Given the description of an element on the screen output the (x, y) to click on. 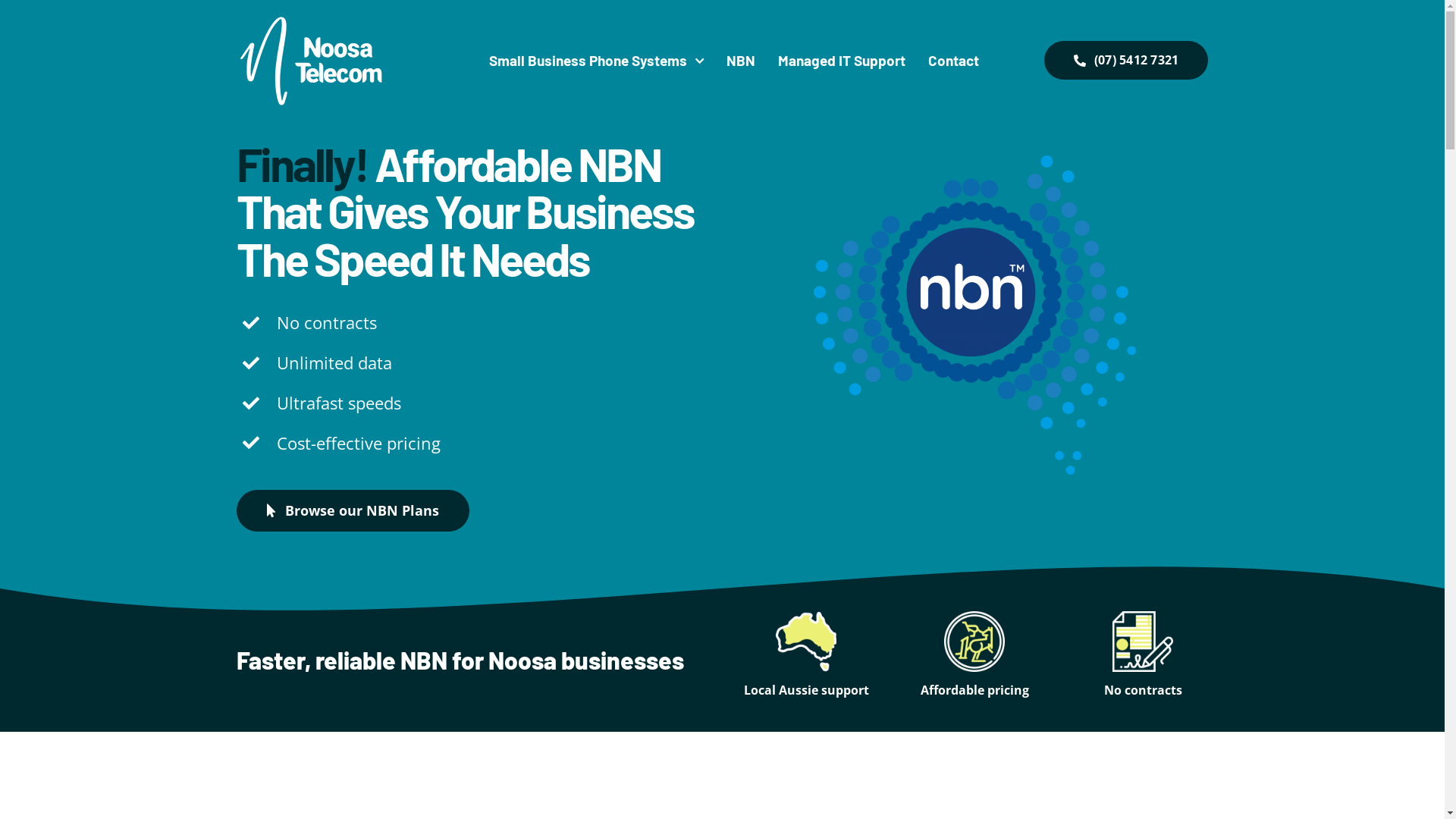
Small Business Phone Systems Element type: text (596, 60)
Australian-company Element type: hover (805, 641)
Contact Element type: text (953, 60)
(07) 5412 7321 Element type: text (1125, 59)
no-contracts Element type: hover (1142, 641)
Aussie-dollar Element type: hover (974, 641)
Browse our NBN Plans Element type: text (352, 510)
Managed IT Support Element type: text (841, 60)
Australian-National-Broadband-Network Element type: hover (974, 313)
NBN Element type: text (740, 60)
